Given the description of an element on the screen output the (x, y) to click on. 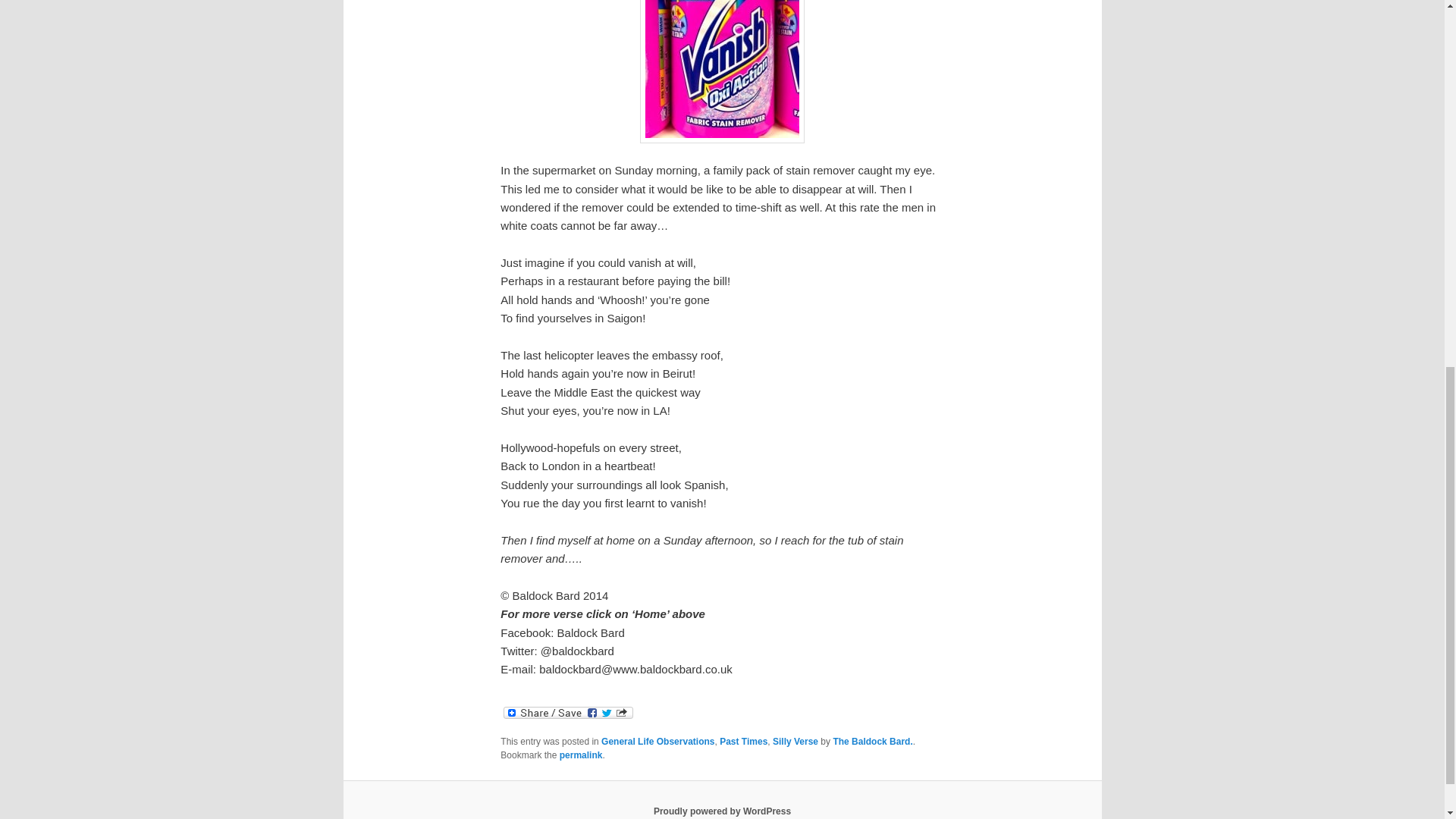
Semantic Personal Publishing Platform (721, 810)
permalink (580, 755)
Proudly powered by WordPress (721, 810)
Silly Verse (795, 741)
Past Times (743, 741)
The Baldock Bard. (872, 741)
General Life Observations (657, 741)
